Given the description of an element on the screen output the (x, y) to click on. 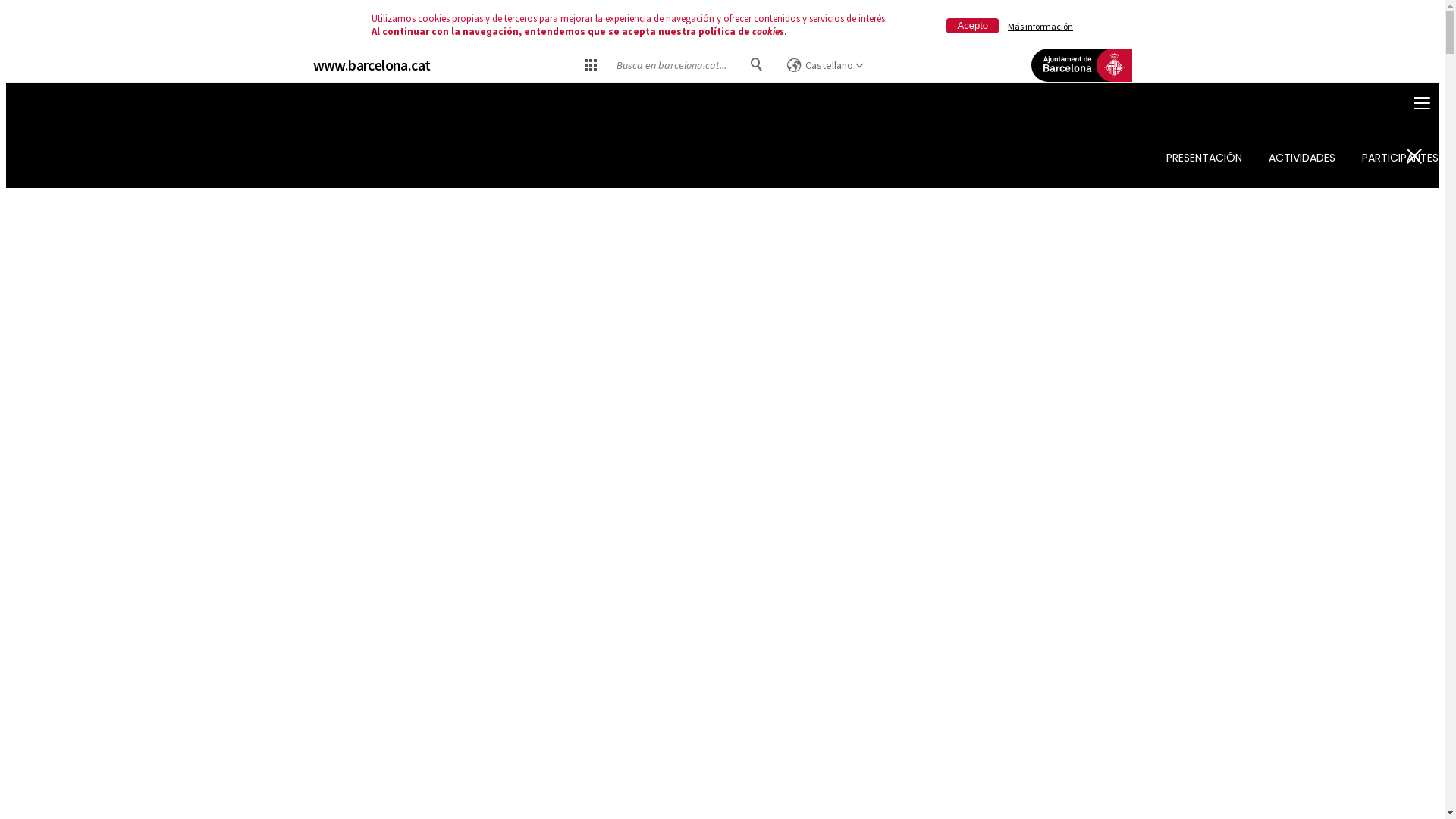
Atajos de barcelona.cat Element type: hover (590, 64)
www.barcelona.cat Element type: text (370, 64)
Acepto Element type: text (972, 25)
Castellano Element type: text (824, 64)
Abrir en una ventana nueva Element type: text (1079, 87)
Pasar al contenido principal Element type: text (6, 82)
cookies Element type: text (768, 31)
PARTICIPANTES Element type: text (1399, 157)
ACTIVIDADES Element type: text (1301, 157)
